Given the description of an element on the screen output the (x, y) to click on. 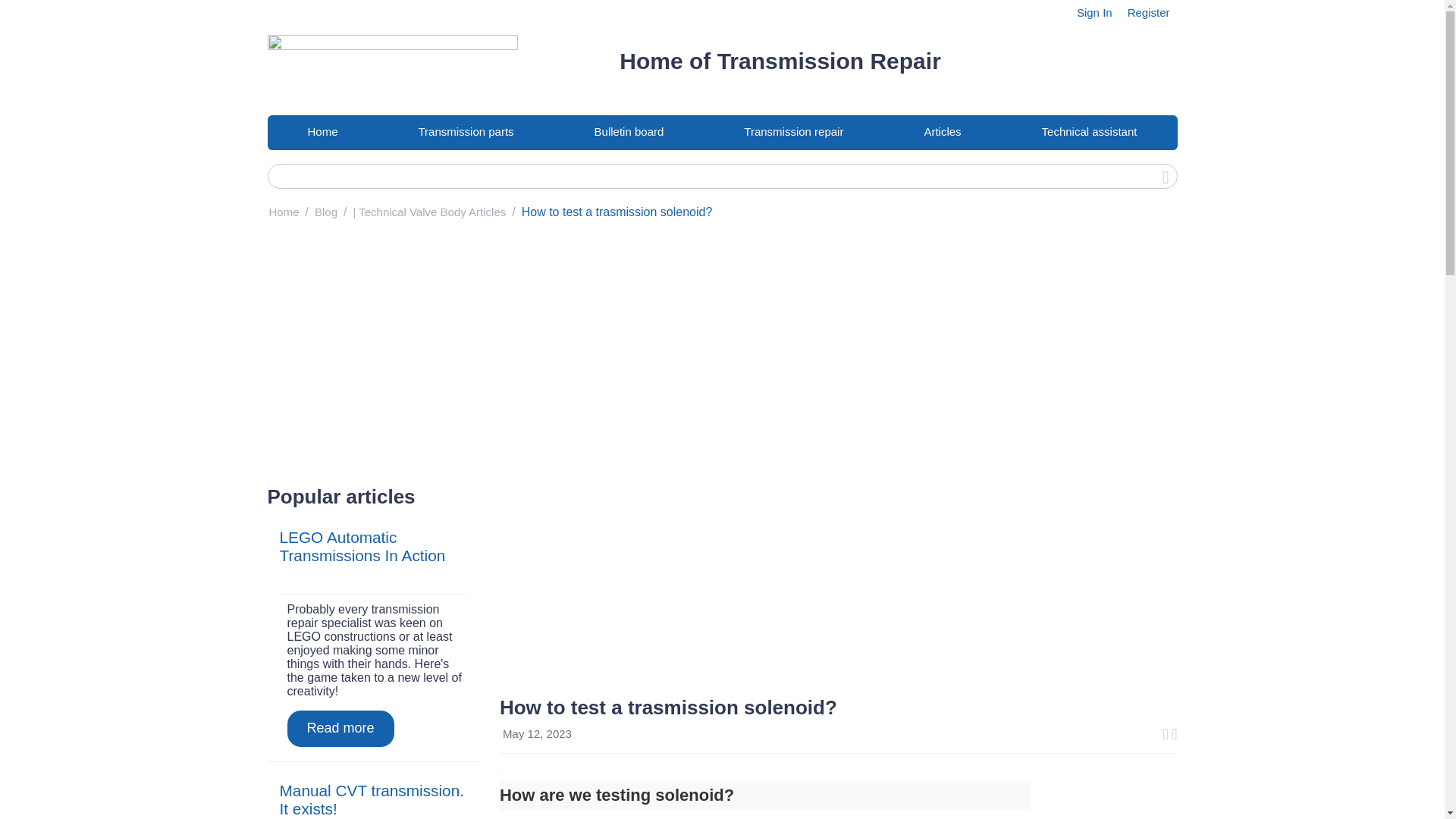
LEGO Automatic Transmissions In Action (362, 546)
Home (321, 132)
Bulletin board (629, 132)
Transmission parts (465, 132)
Blog (326, 211)
Search by part number or keyword (721, 176)
Home (282, 211)
Read more (339, 728)
Articles (942, 132)
Manual CVT transmission. It exists! (371, 799)
